Given the description of an element on the screen output the (x, y) to click on. 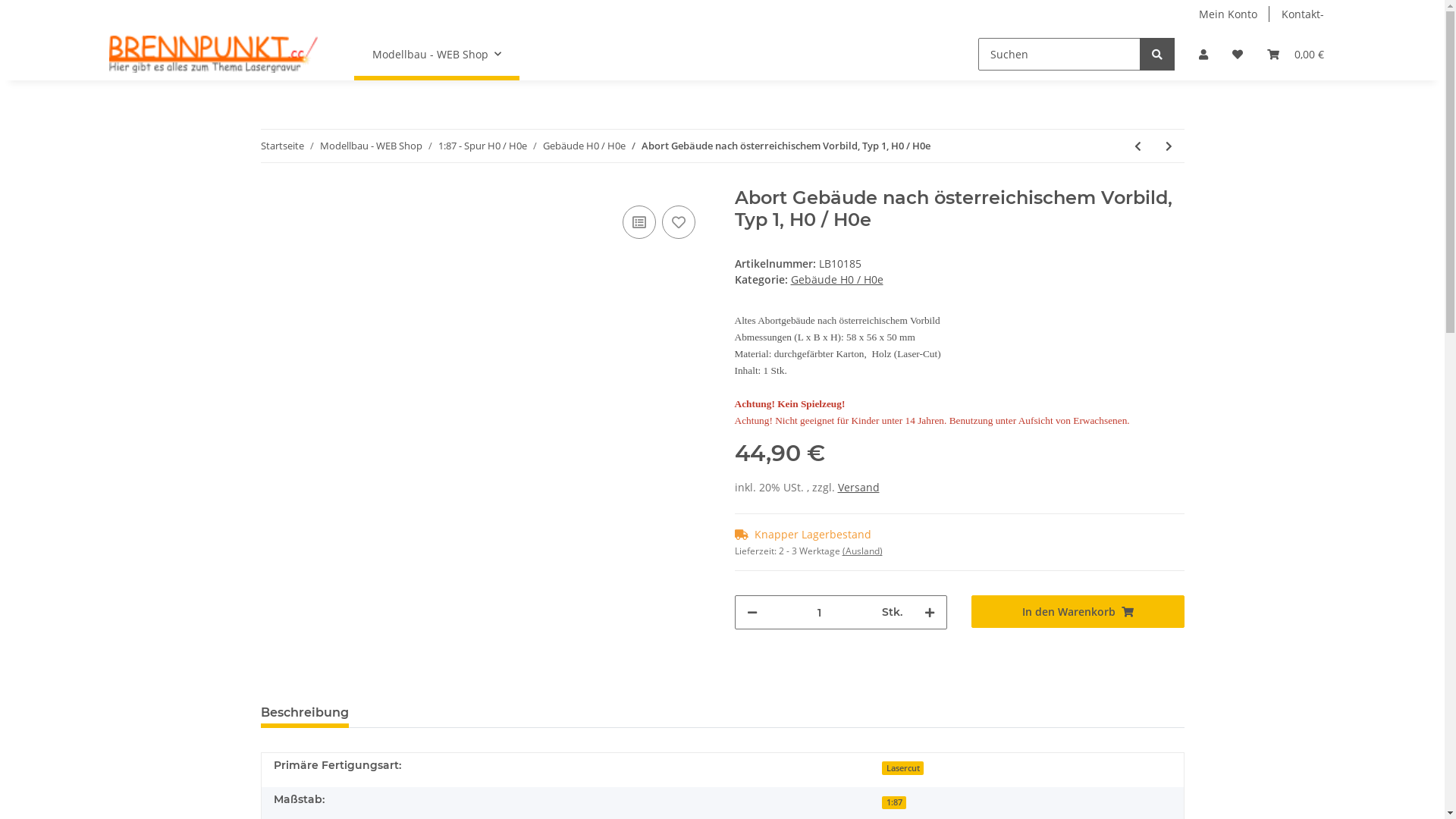
1:87 - Spur H0 / H0e Element type: text (482, 145)
Auf den Wunschzettel Element type: hover (677, 221)
In den Warenkorb Element type: text (1077, 611)
Mein Konto Element type: text (1227, 14)
Auf die Vergleichsliste Element type: hover (638, 221)
Versand Element type: text (857, 487)
Lasercut Element type: text (901, 768)
1:87 Element type: text (893, 802)
Modellbau - WEB Shop Element type: text (436, 54)
Beschreibung Element type: text (304, 712)
Brennpunkt.cc Element type: hover (213, 53)
Kontakt- Element type: text (1302, 14)
Modellbau - WEB Shop Element type: text (371, 145)
Startseite Element type: text (282, 145)
